Given the description of an element on the screen output the (x, y) to click on. 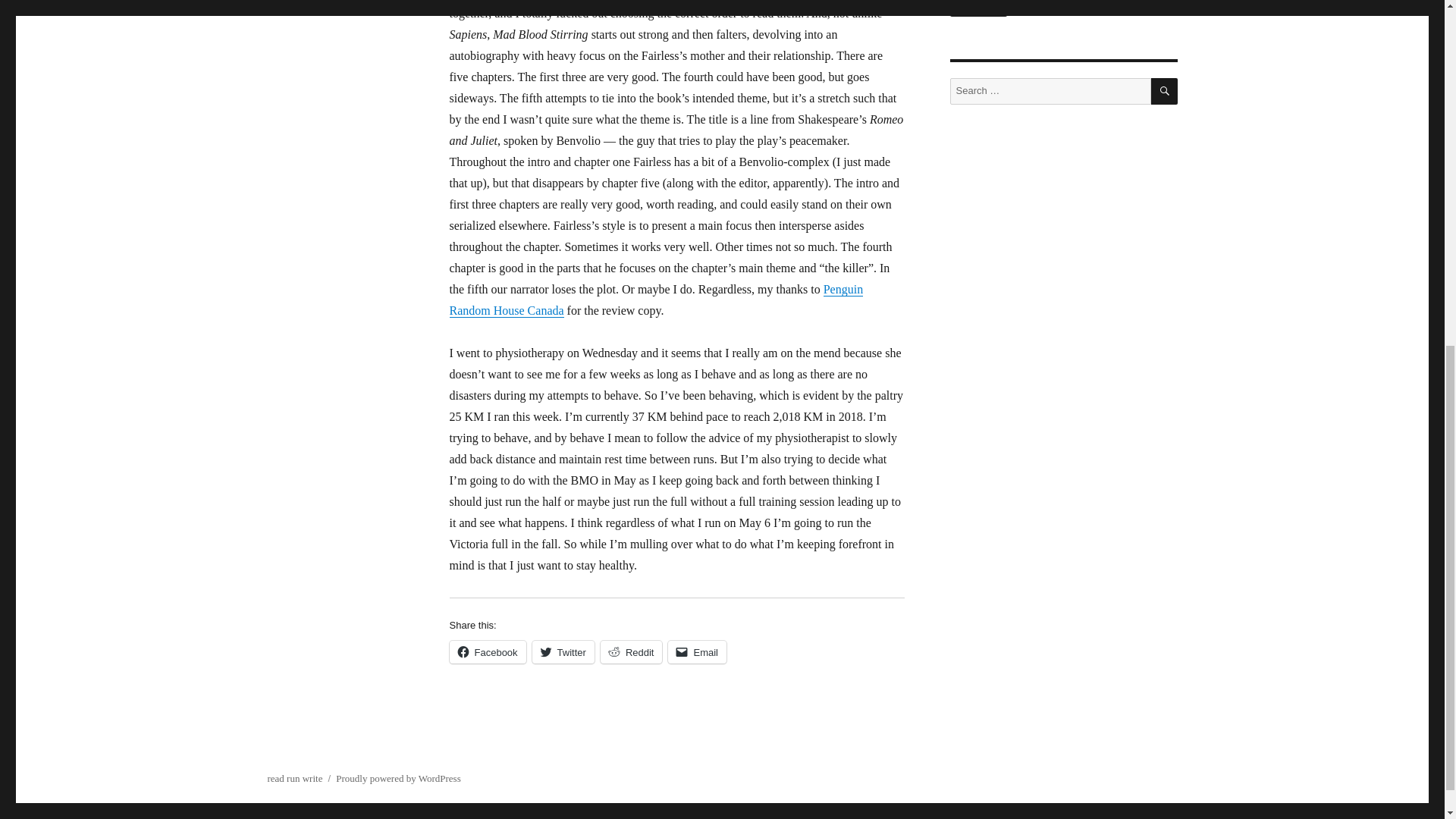
Proudly powered by WordPress (398, 778)
Click to share on Reddit (630, 651)
Penguin Random House Canada (655, 299)
Click to share on Twitter (563, 651)
Click to share on Facebook (486, 651)
Facebook (486, 651)
read run write (293, 778)
Twitter (563, 651)
Email (697, 651)
Reddit (630, 651)
SEARCH (1164, 90)
Click to email a link to a friend (697, 651)
Submit (978, 8)
Submit (978, 8)
